Given the description of an element on the screen output the (x, y) to click on. 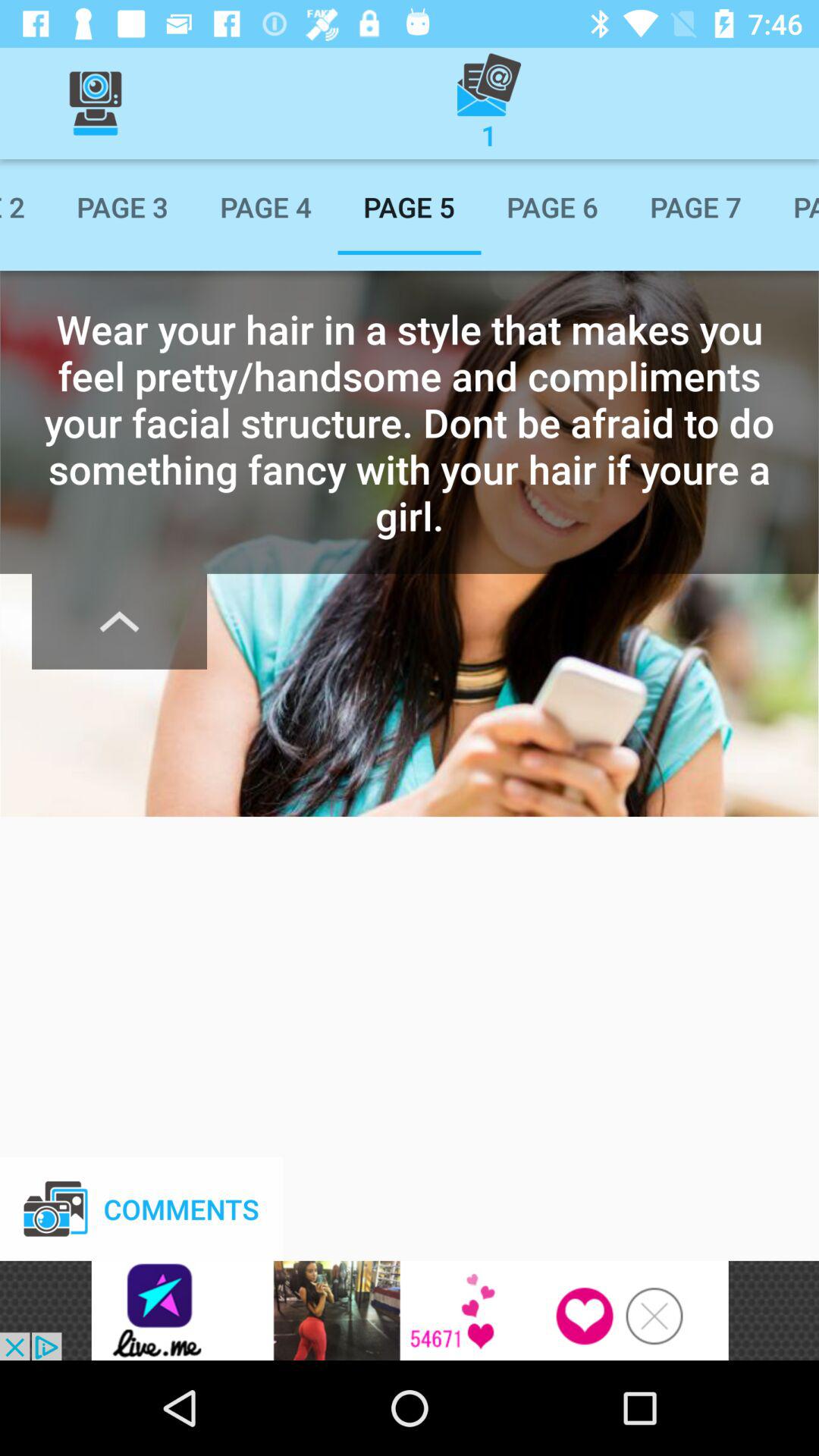
like (409, 1310)
